Given the description of an element on the screen output the (x, y) to click on. 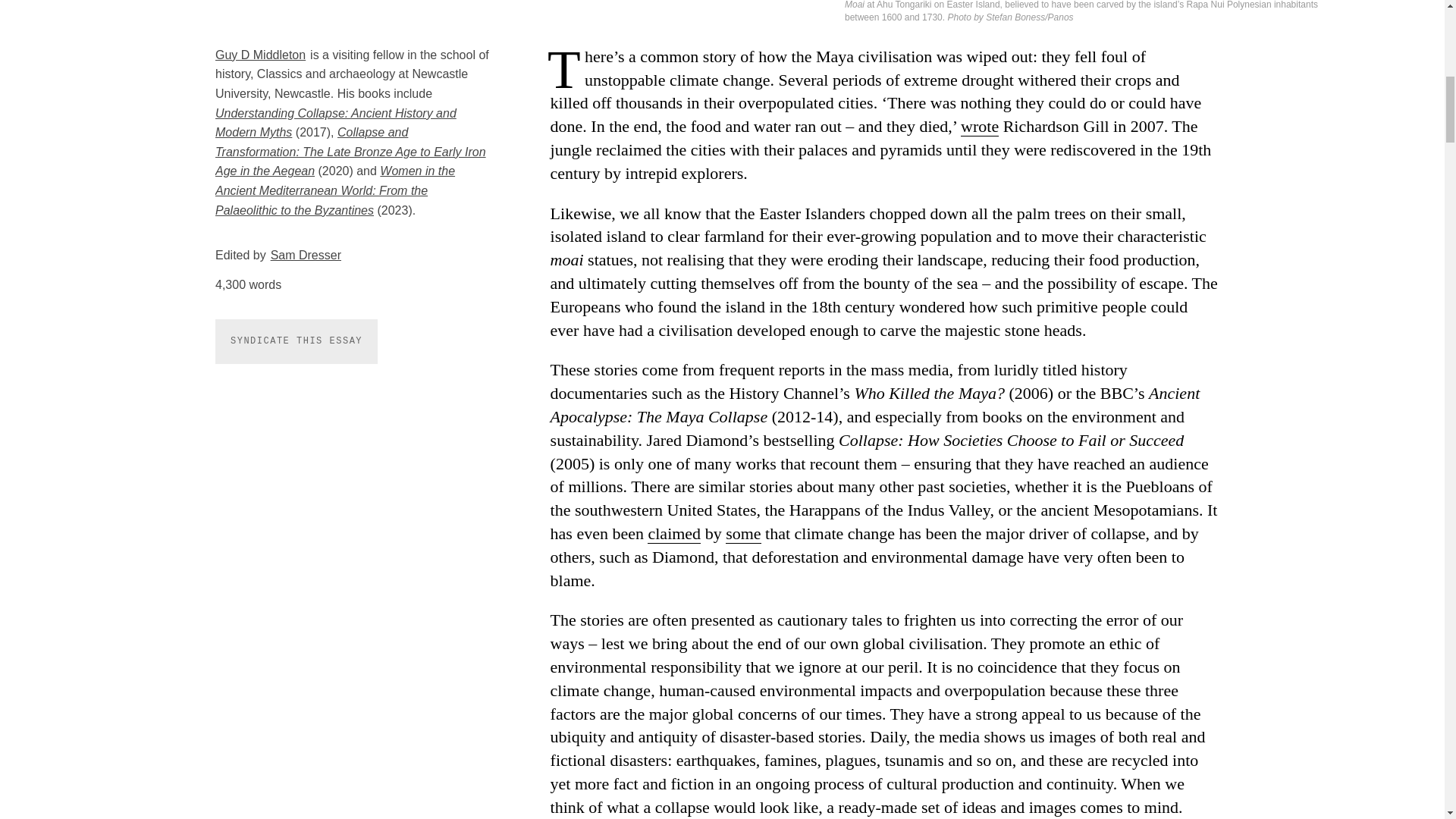
Sam Dresser (305, 254)
claimed (673, 533)
SYNDICATE THIS ESSAY (296, 341)
wrote (979, 126)
some (742, 533)
Guy D Middleton (260, 54)
Understanding Collapse: Ancient History and Modern Myths (336, 123)
